Given the description of an element on the screen output the (x, y) to click on. 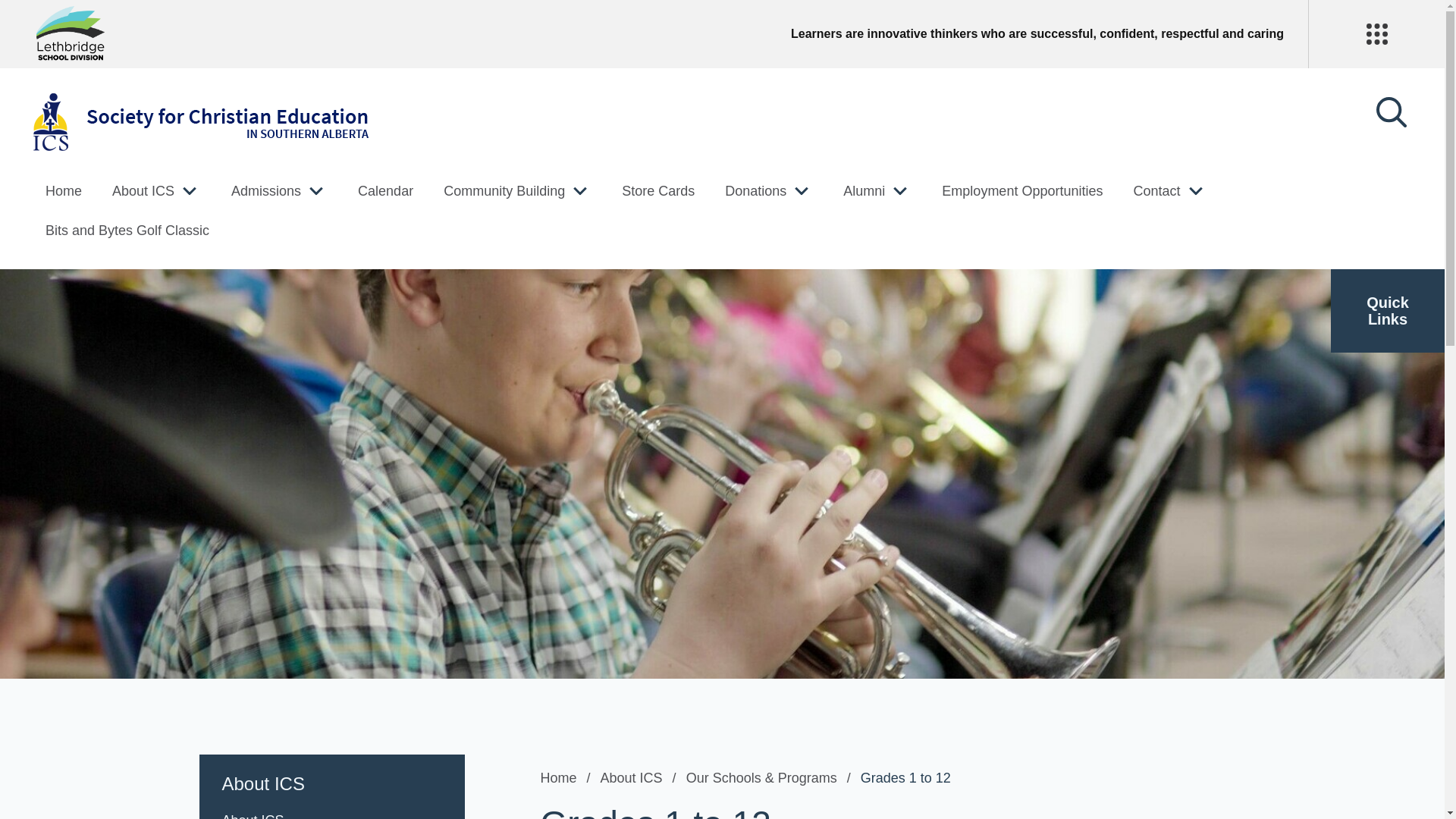
About ICS (143, 191)
Home (63, 191)
